Given the description of an element on the screen output the (x, y) to click on. 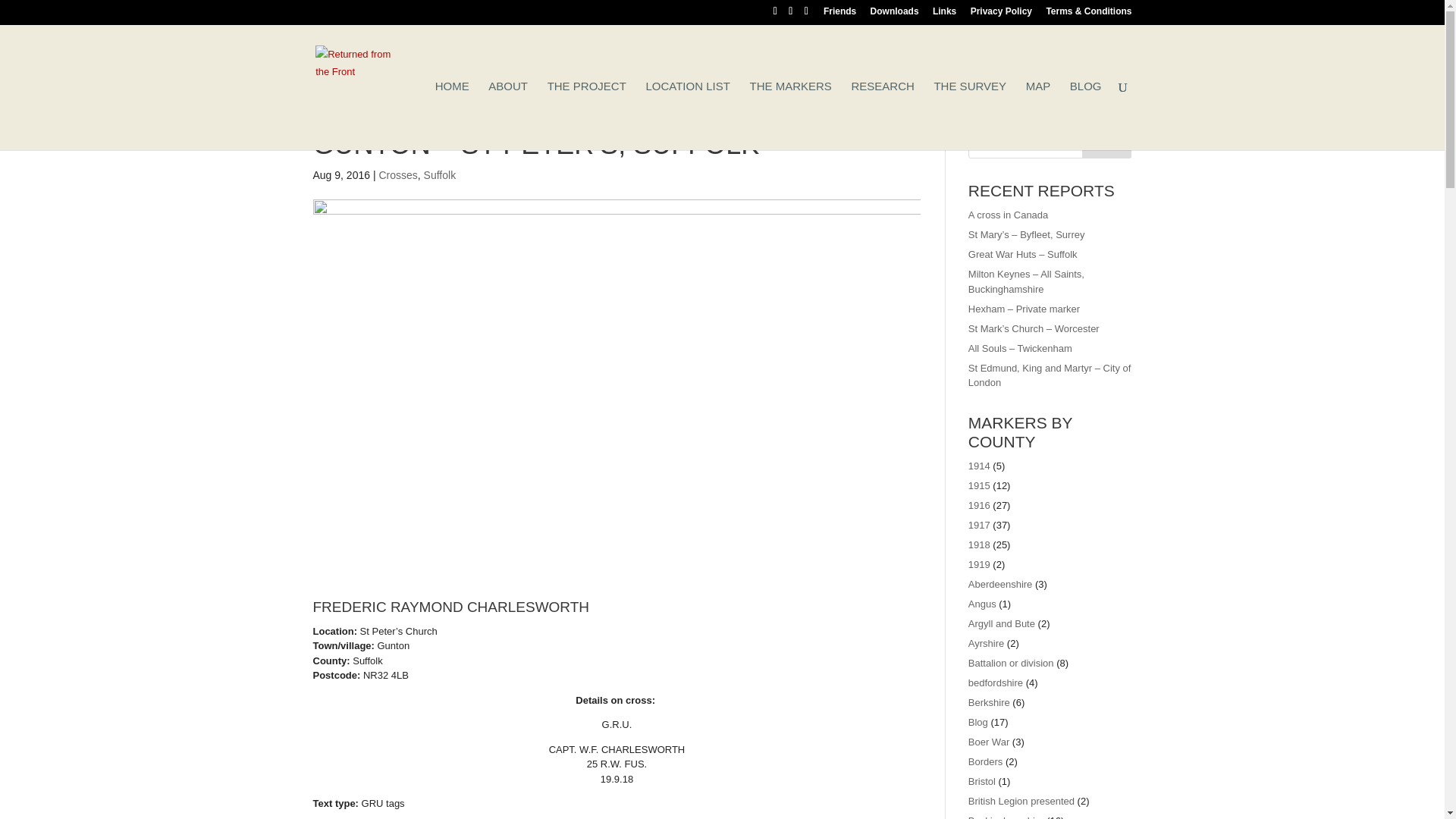
A cross in Canada (1008, 214)
Privacy Policy (1001, 14)
Friends (840, 14)
THE MARKERS (790, 115)
LOCATION LIST (687, 115)
Links (944, 14)
Crosses (397, 174)
1915 (979, 485)
Search (1106, 142)
1914 (979, 465)
Downloads (894, 14)
Suffolk (440, 174)
THE PROJECT (586, 115)
Search (1106, 142)
RESEARCH (882, 115)
